Given the description of an element on the screen output the (x, y) to click on. 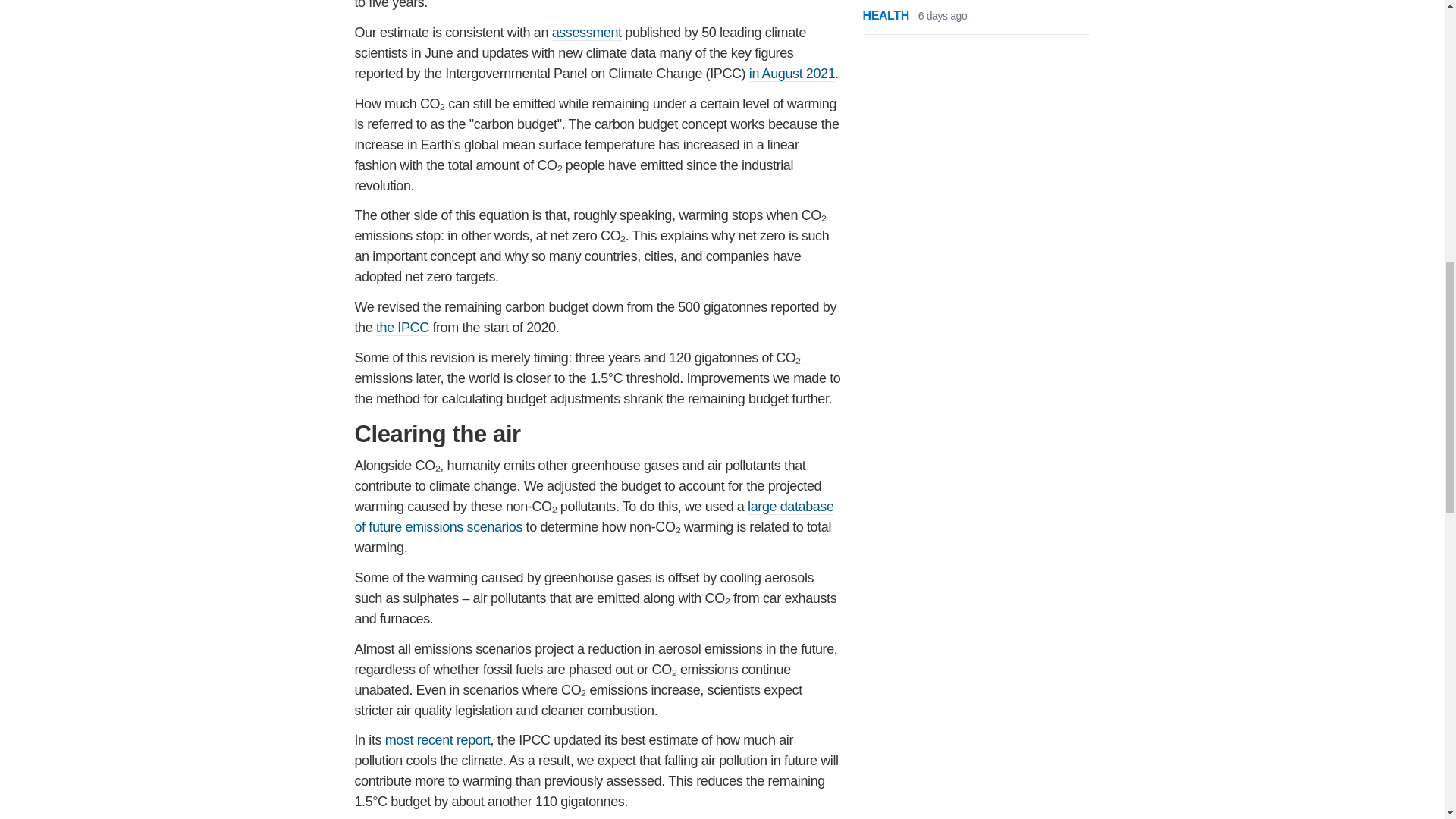
large database of future emissions scenarios (594, 516)
the IPCC (402, 327)
in August 2021 (792, 73)
most recent report (437, 740)
assessment (586, 32)
